Given the description of an element on the screen output the (x, y) to click on. 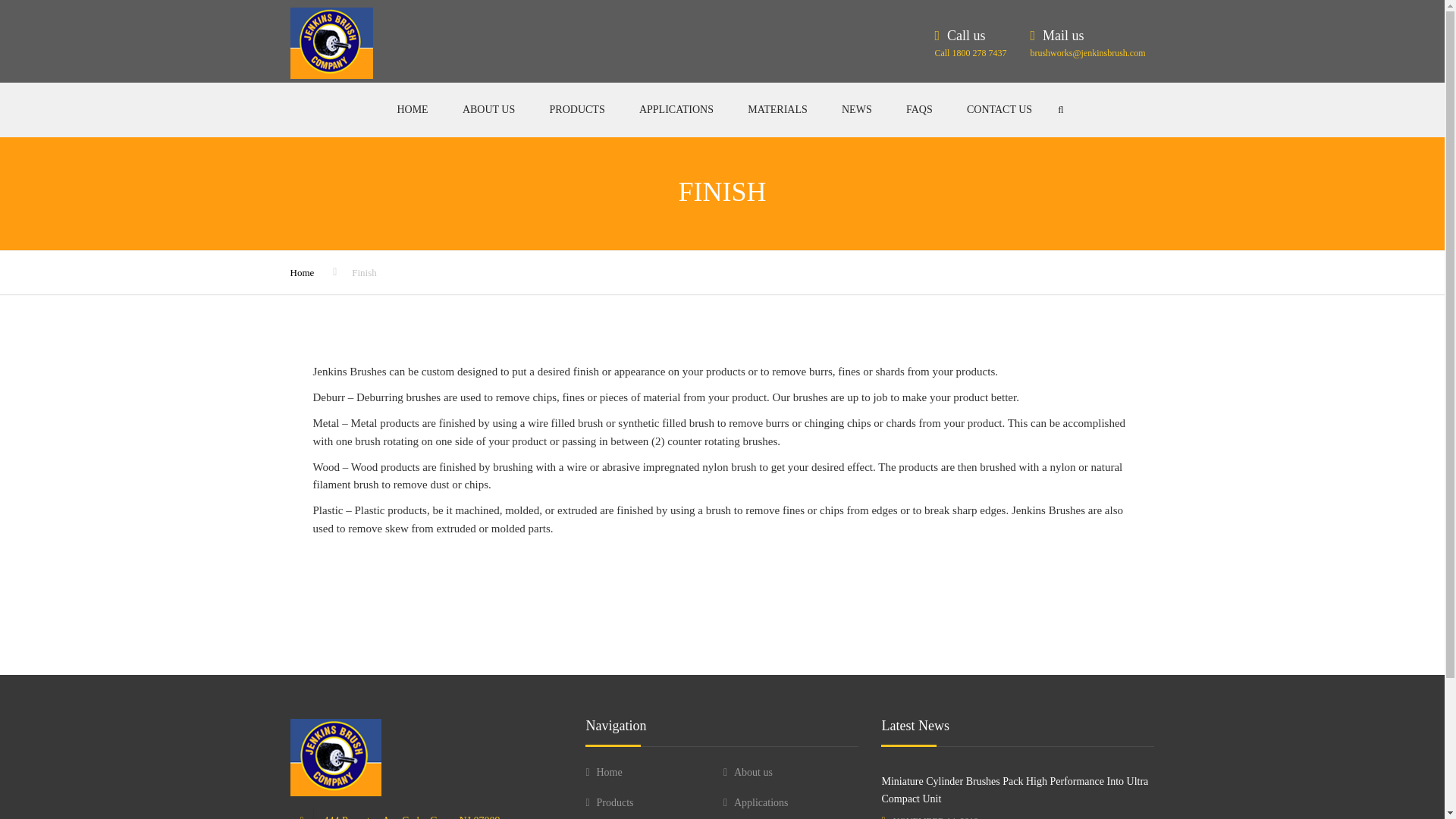
Home (301, 272)
APPLICATIONS (676, 109)
PRODUCTS (577, 109)
FAQS (919, 109)
HOME (412, 109)
ABOUT US (488, 109)
Call 1800 278 7437 (970, 52)
MATERIALS (778, 109)
CONTACT US (999, 109)
NEWS (856, 109)
